Given the description of an element on the screen output the (x, y) to click on. 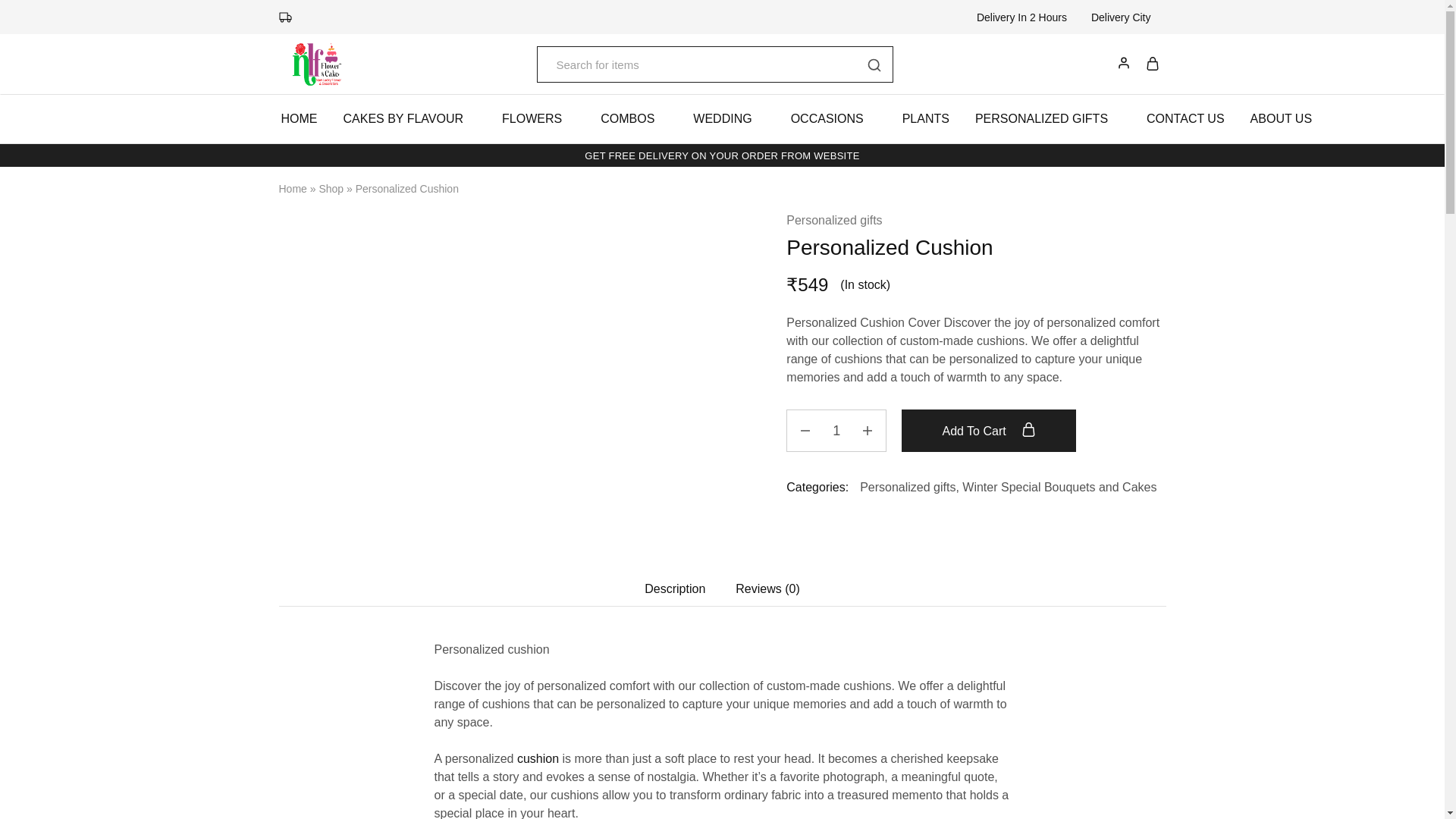
Delivery In 2 Hours (1021, 17)
CAKES BY FLAVOUR (409, 118)
Delivery City (1127, 17)
HOME (299, 118)
